Given the description of an element on the screen output the (x, y) to click on. 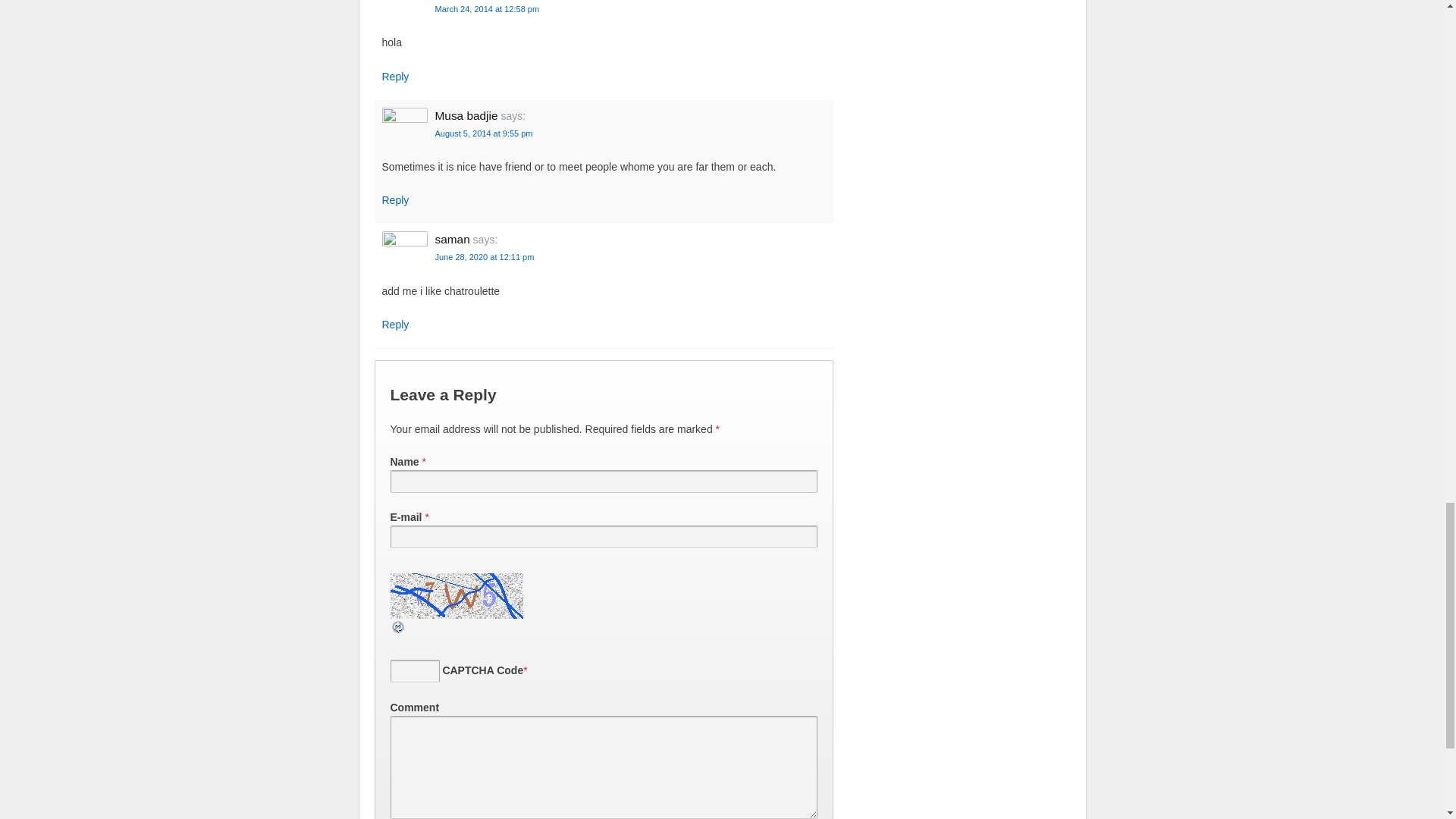
Reply (395, 76)
Reply (395, 200)
Refresh Image (398, 625)
CAPTCHA Image (457, 596)
March 24, 2014 at 12:58 pm (487, 8)
June 28, 2020 at 12:11 pm (484, 256)
August 5, 2014 at 9:55 pm (483, 133)
Reply (395, 324)
